Given the description of an element on the screen output the (x, y) to click on. 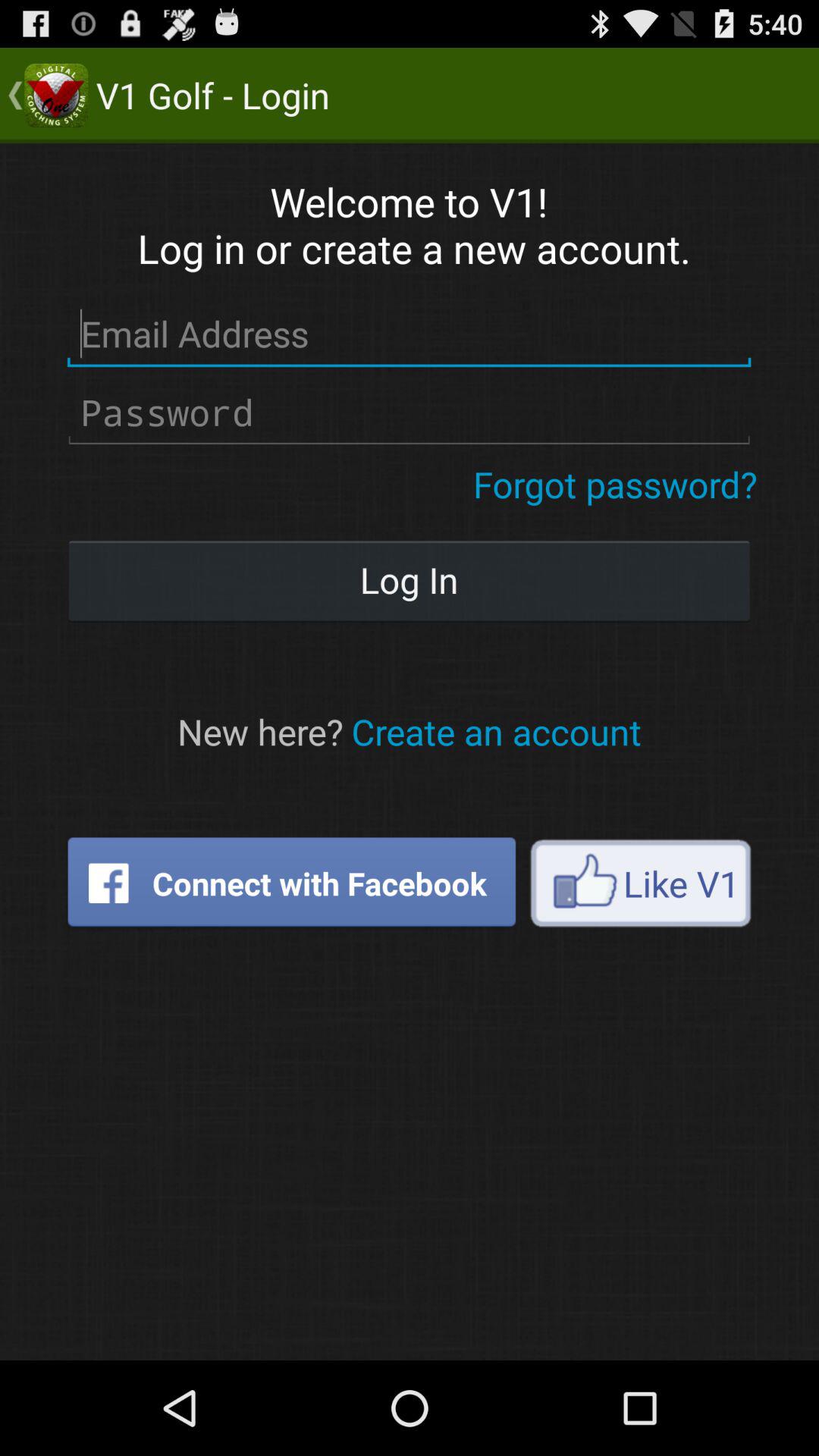
choose icon next to the connect with facebook (639, 883)
